Given the description of an element on the screen output the (x, y) to click on. 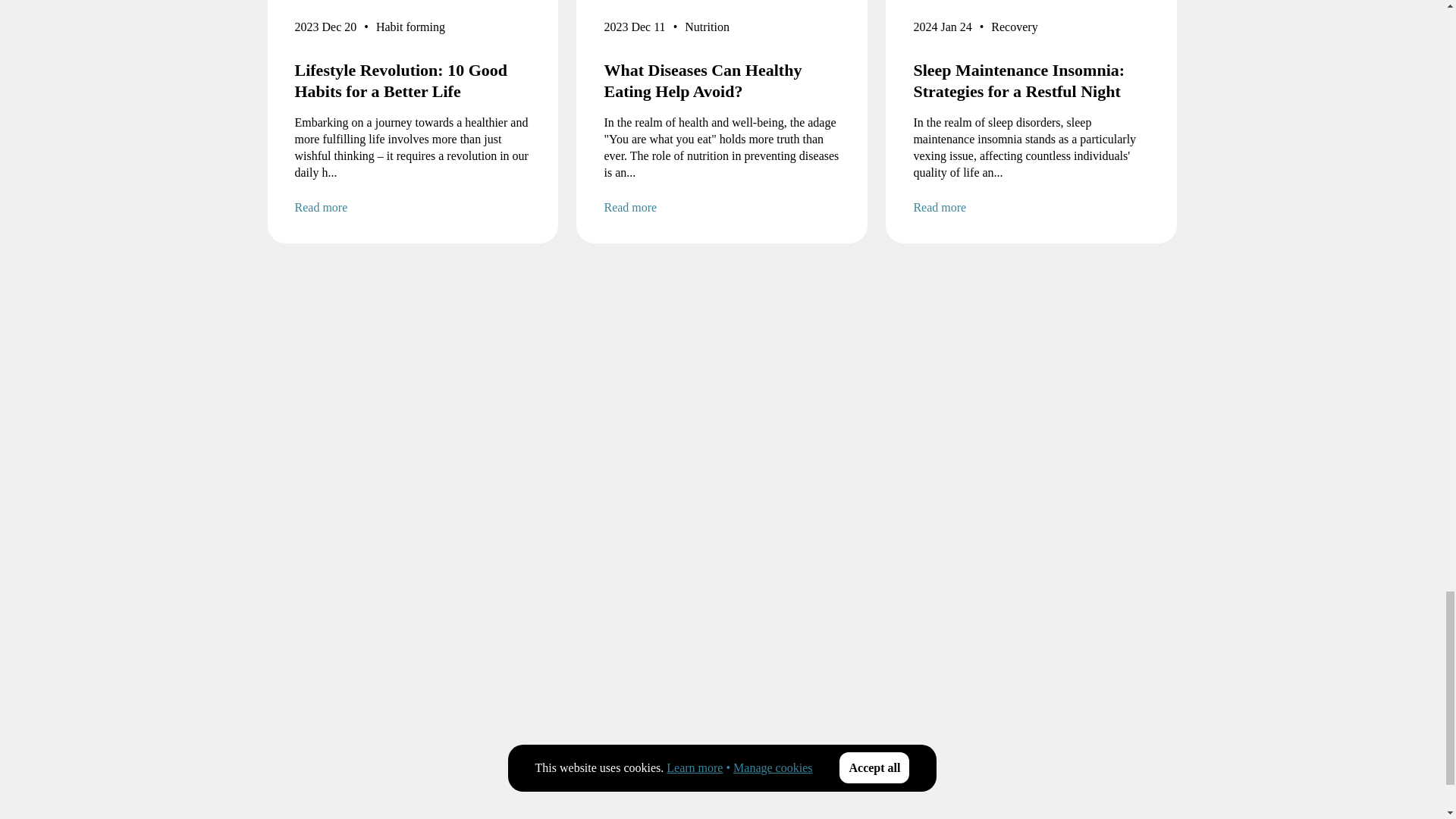
Habit forming (410, 29)
Read more (412, 207)
Lifestyle Revolution: 10 Good Habits for a Better Life (412, 80)
